Given the description of an element on the screen output the (x, y) to click on. 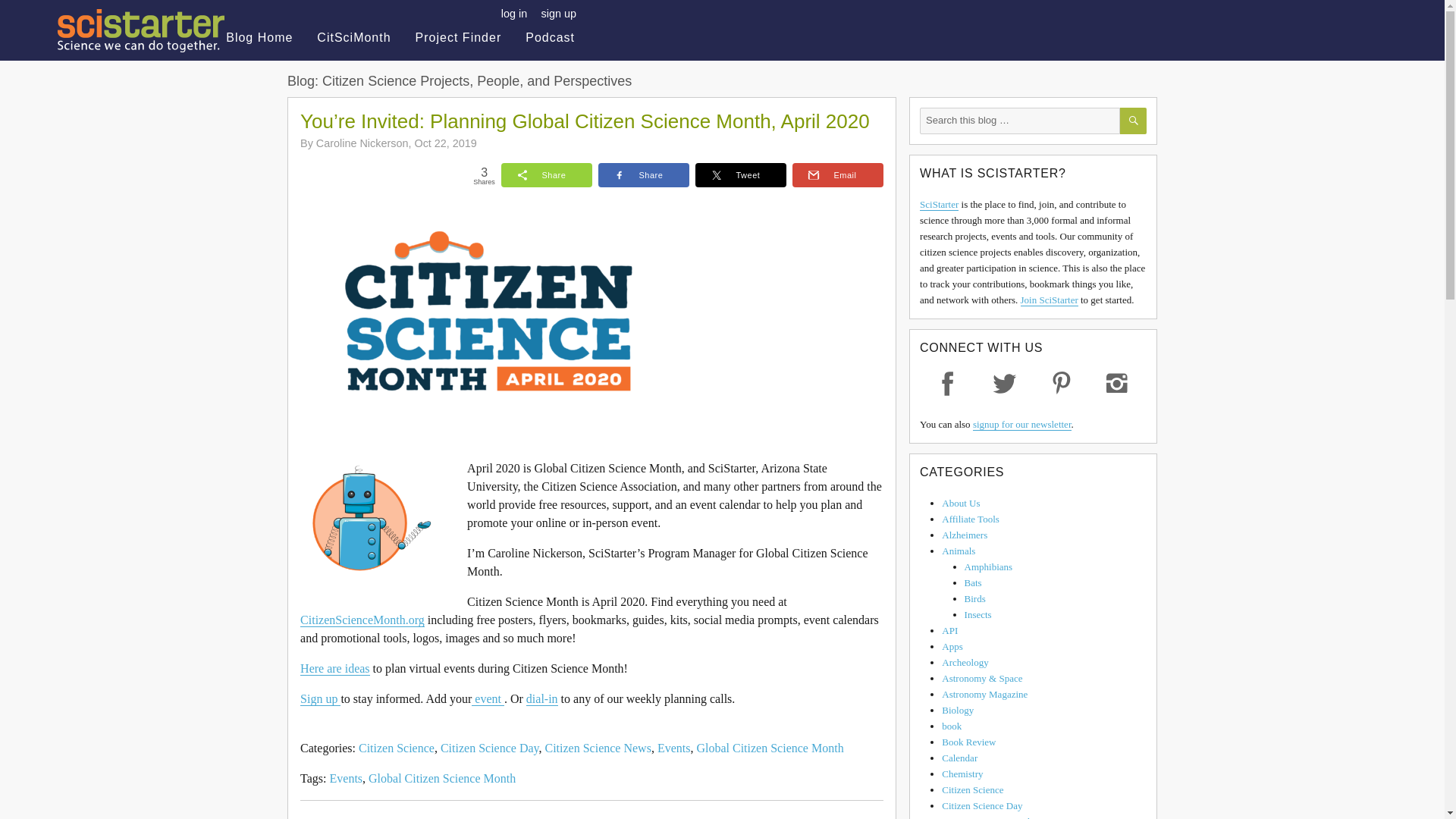
Here are ideas (334, 667)
Alzheimers (964, 534)
signup for our newsletter (1021, 423)
Animals (958, 550)
sign up (558, 13)
CitizenScienceMonth.org (362, 619)
Events (674, 748)
event (487, 698)
Citizen Science Day (489, 748)
SciStarter (939, 204)
